Given the description of an element on the screen output the (x, y) to click on. 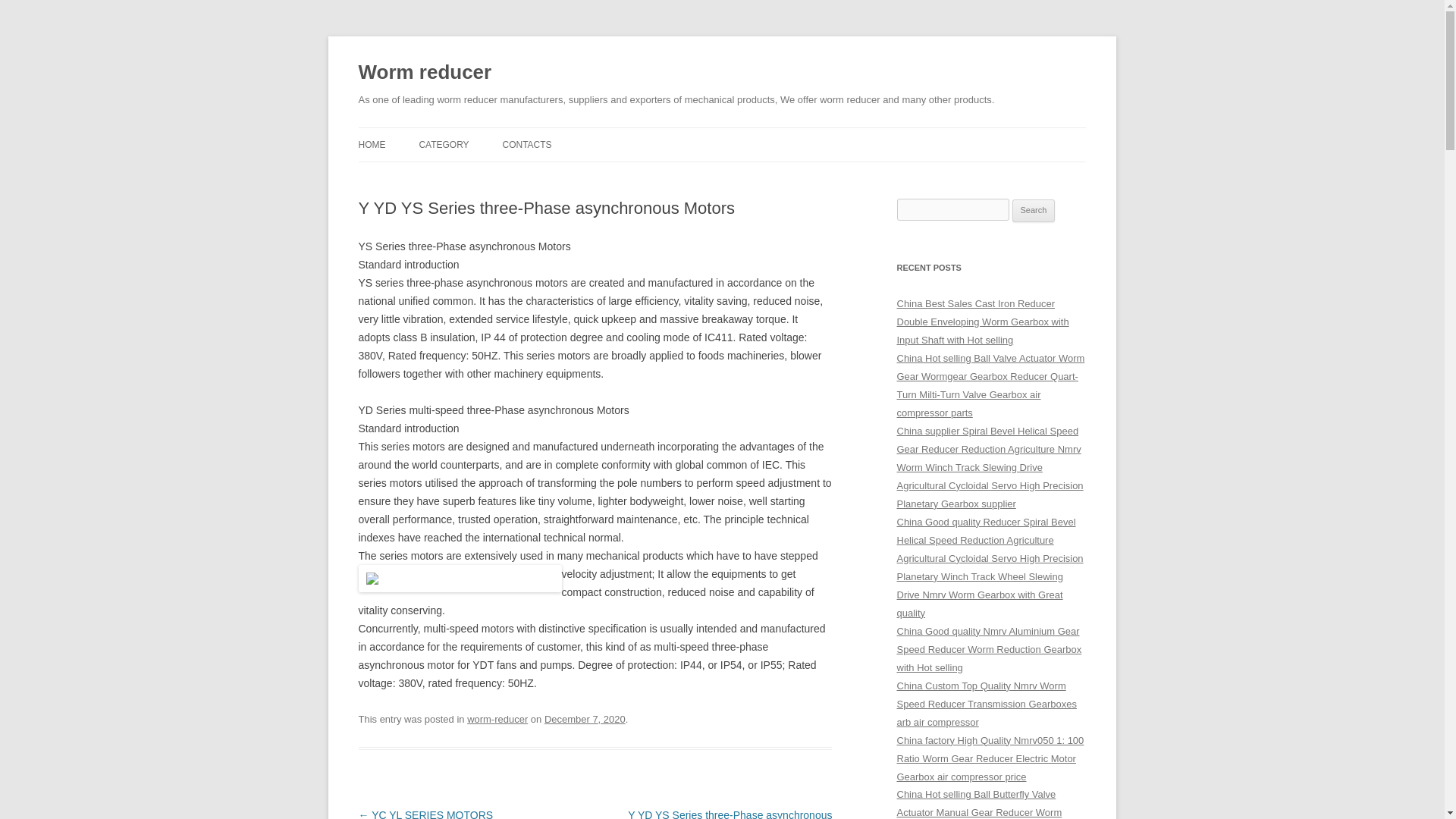
worm-reducer (497, 718)
CONTACTS (526, 144)
CATEGORY (443, 144)
9:58 am (585, 718)
Worm reducer (425, 72)
Search (1033, 210)
Search (1033, 210)
